Given the description of an element on the screen output the (x, y) to click on. 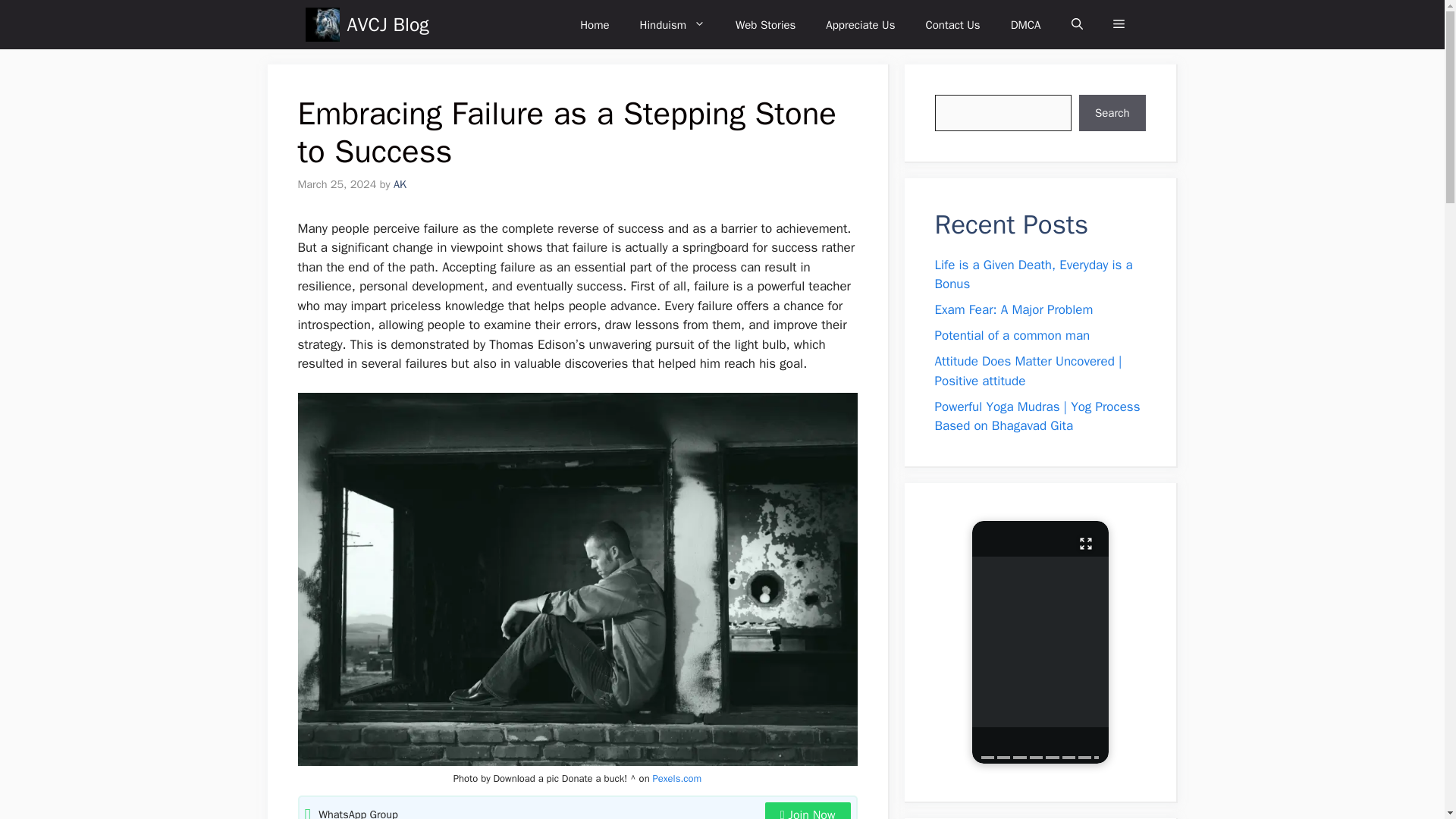
AK (399, 183)
Home (594, 23)
AVCJ Blog (321, 24)
AVCJ Blog (388, 24)
DMCA (1026, 23)
Pexels.com (676, 778)
View all posts by AK (399, 183)
Web Stories (765, 23)
Hinduism (672, 23)
Appreciate Us (860, 23)
Play story in new tab (1040, 641)
Contact Us (952, 23)
Join Now (807, 810)
om statue (1040, 641)
